Given the description of an element on the screen output the (x, y) to click on. 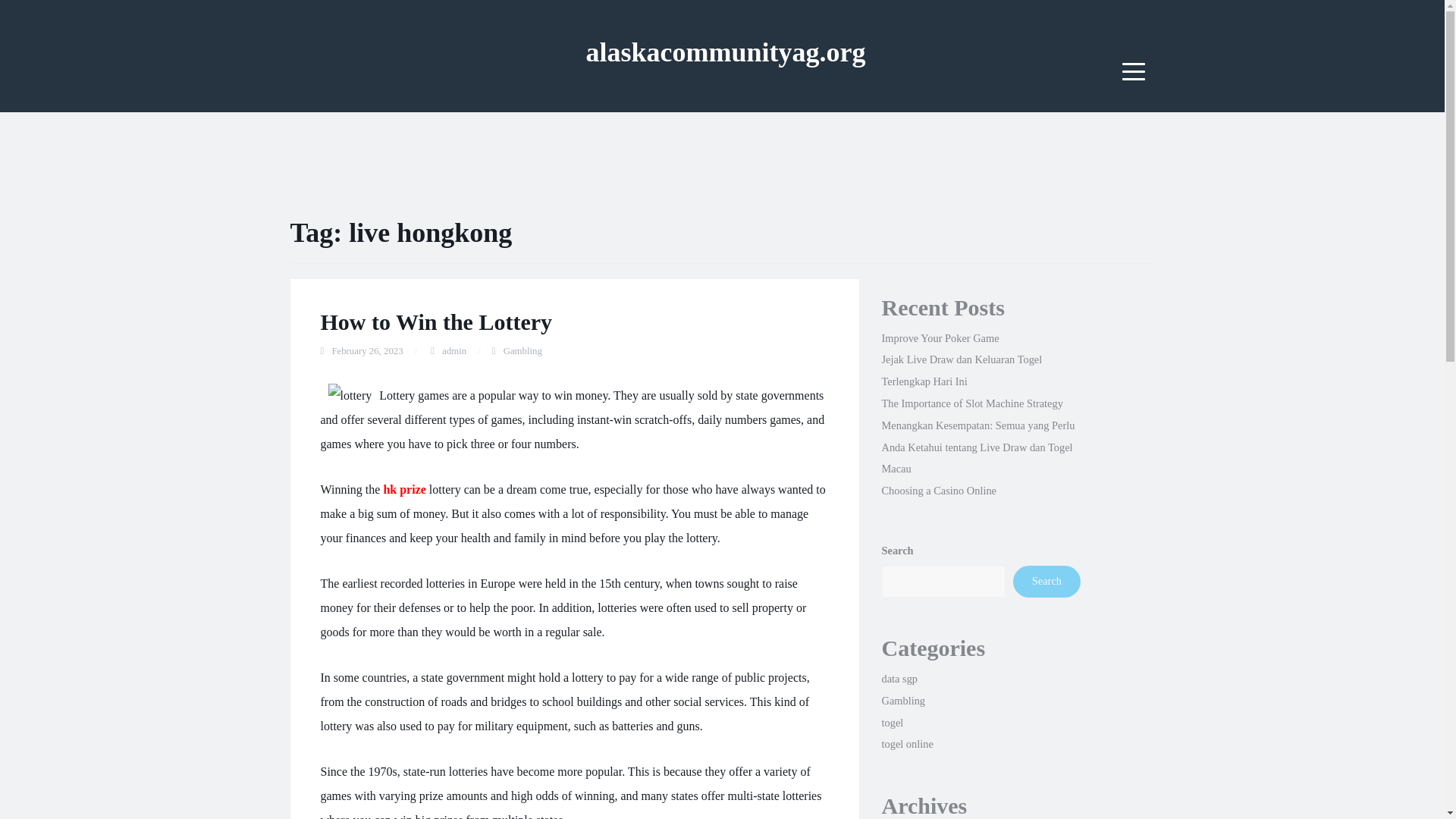
Menu (1133, 71)
data sgp (898, 678)
admin (453, 350)
togel (891, 722)
alaskacommunityag.org (724, 51)
Search (1046, 581)
Improve Your Poker Game (939, 337)
Gambling (522, 350)
The Importance of Slot Machine Strategy (971, 403)
